Given the description of an element on the screen output the (x, y) to click on. 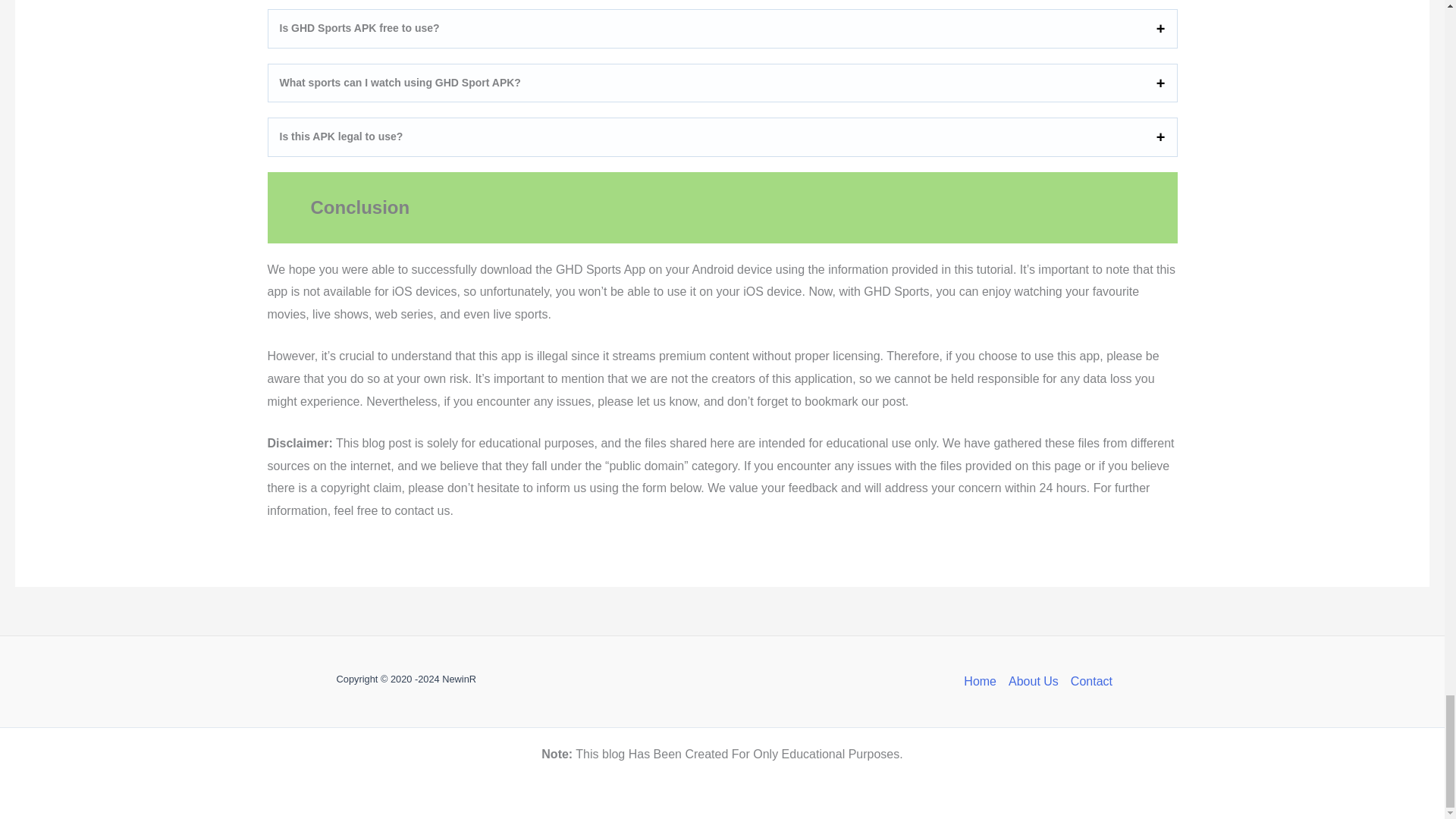
About Us (1033, 681)
Home (983, 681)
Contact (1088, 681)
